Given the description of an element on the screen output the (x, y) to click on. 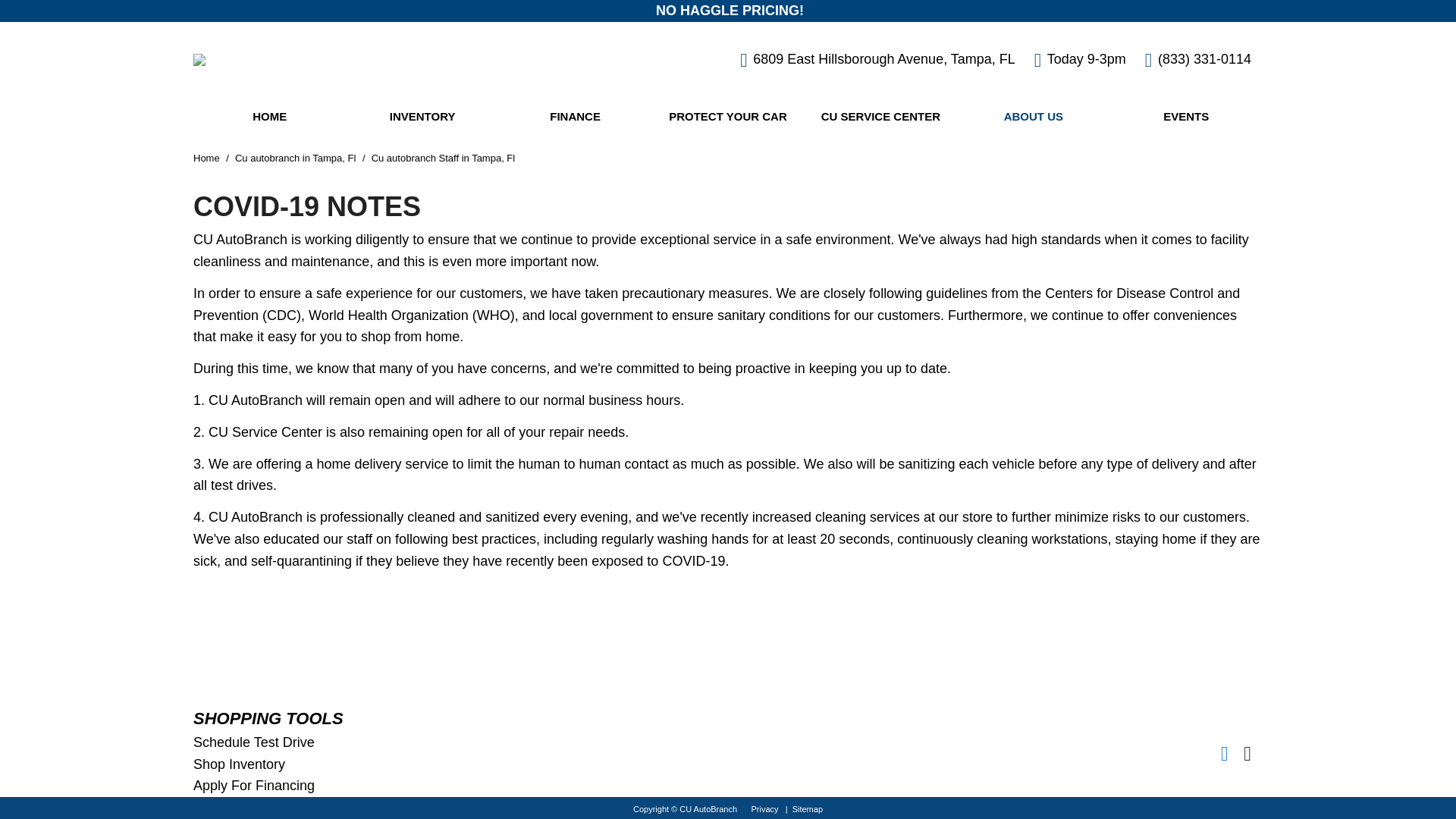
CU AutoBranch (199, 60)
Today 9-3pm (1079, 60)
EVENTS (1185, 116)
HOME (269, 116)
Sitemap (807, 809)
CU SERVICE CENTER (880, 116)
6809 East Hillsborough Avenue, Tampa, FL (876, 60)
INVENTORY (421, 116)
Cu autobranch in Tampa, Fl (296, 157)
PROTECT YOUR CAR (726, 116)
